Given the description of an element on the screen output the (x, y) to click on. 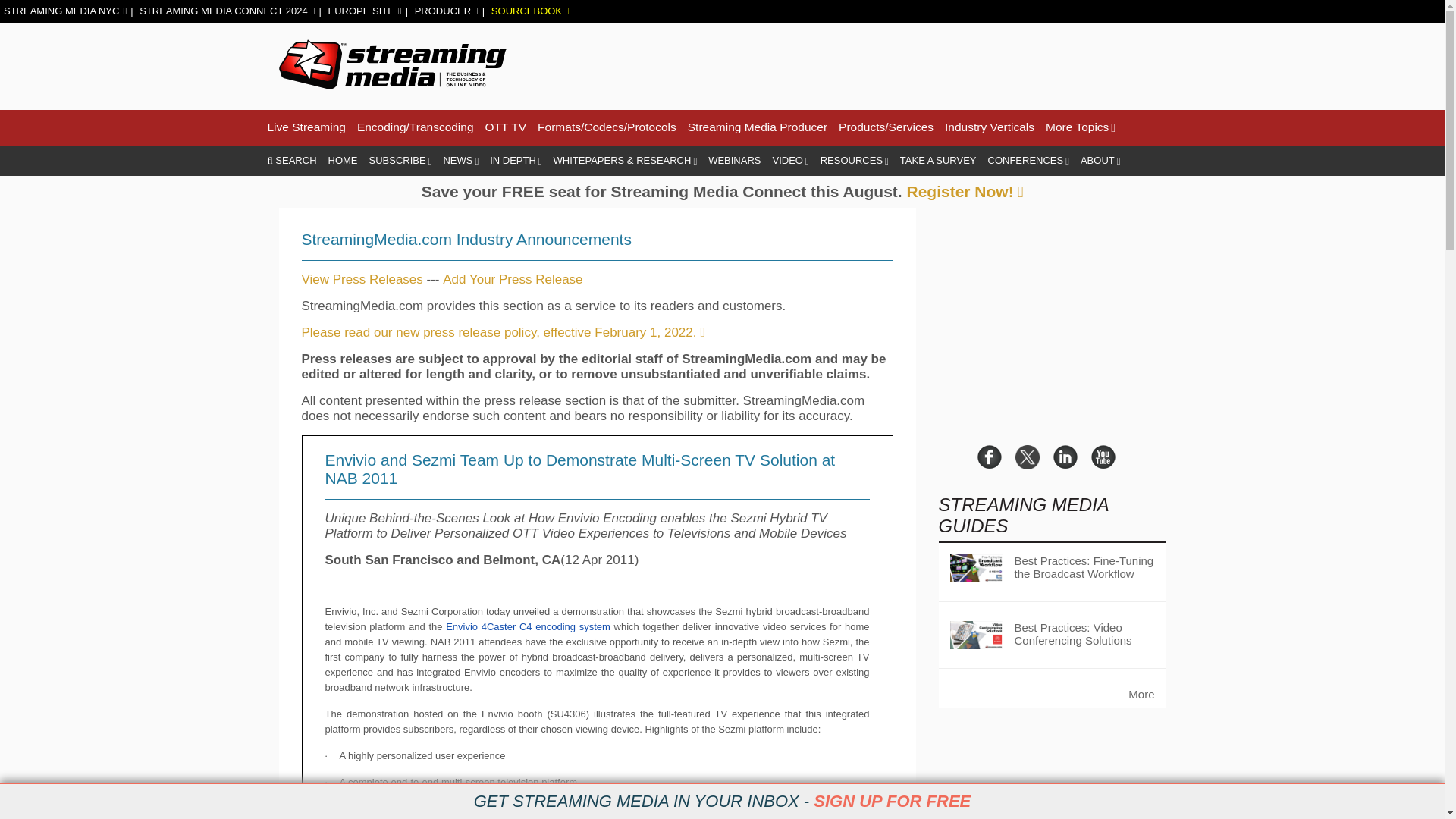
SOURCEBOOK (530, 10)
STREAMING MEDIA NYC (65, 10)
PRODUCER (446, 10)
SUBSCRIBE (400, 160)
Industry Verticals (988, 127)
Streaming Media Producer (757, 127)
3rd party ad content (890, 64)
HOME (343, 160)
EUROPE SITE (364, 10)
OTT TV (505, 127)
NEWS (460, 160)
 SEARCH (290, 160)
GET STREAMING MEDIA IN YOUR INBOX - SIGN UP FOR FREE (722, 801)
Live Streaming (305, 127)
Streaming Media Producer (757, 127)
